Given the description of an element on the screen output the (x, y) to click on. 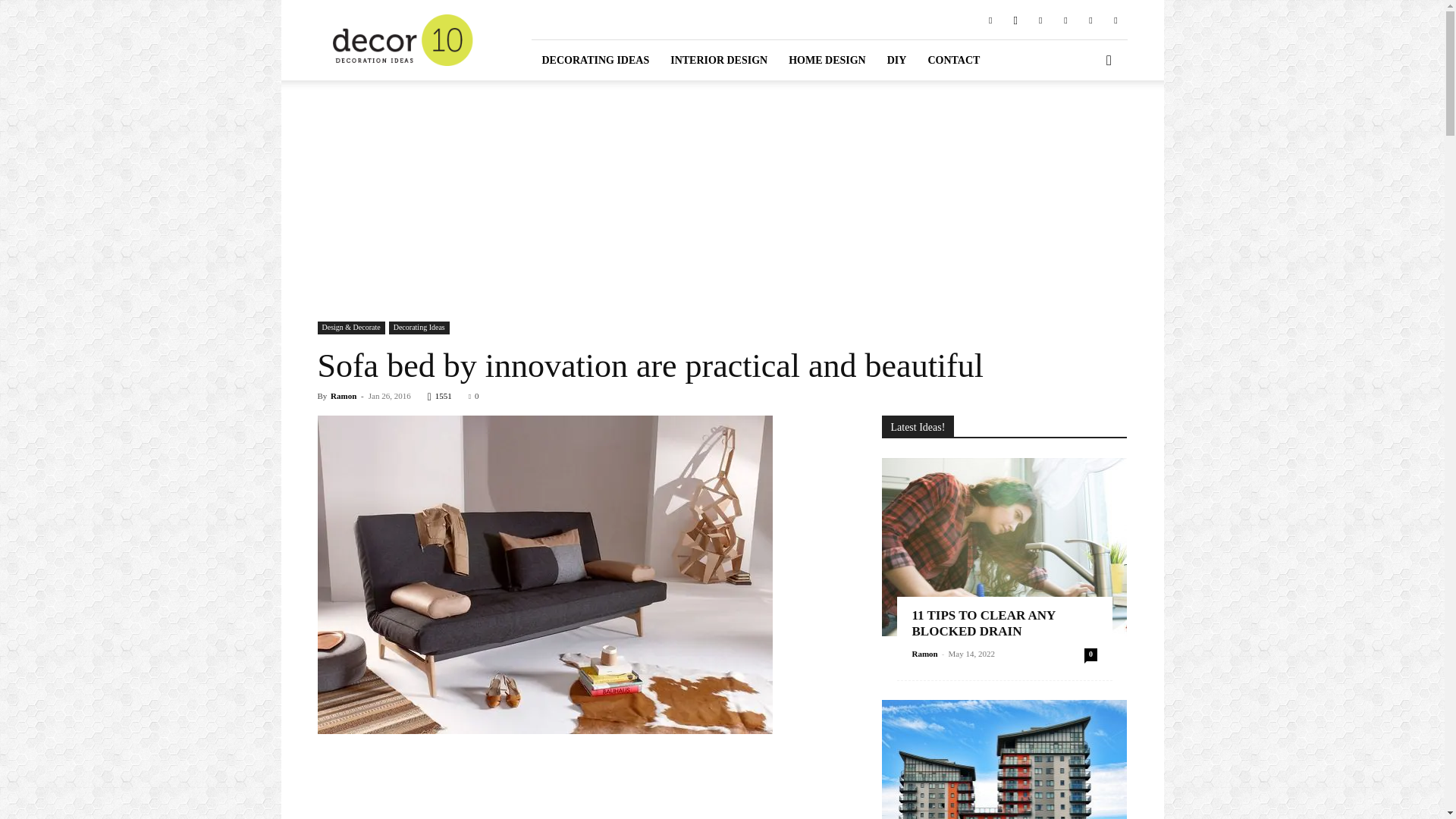
Decorating Ideas (418, 327)
Ramon (343, 395)
Twitter (1090, 19)
0 (473, 395)
DIY (896, 60)
Advertisement (580, 786)
DECORATING IDEAS (595, 60)
WordPress (1114, 19)
Facebook (989, 19)
HOME DESIGN (826, 60)
